Given the description of an element on the screen output the (x, y) to click on. 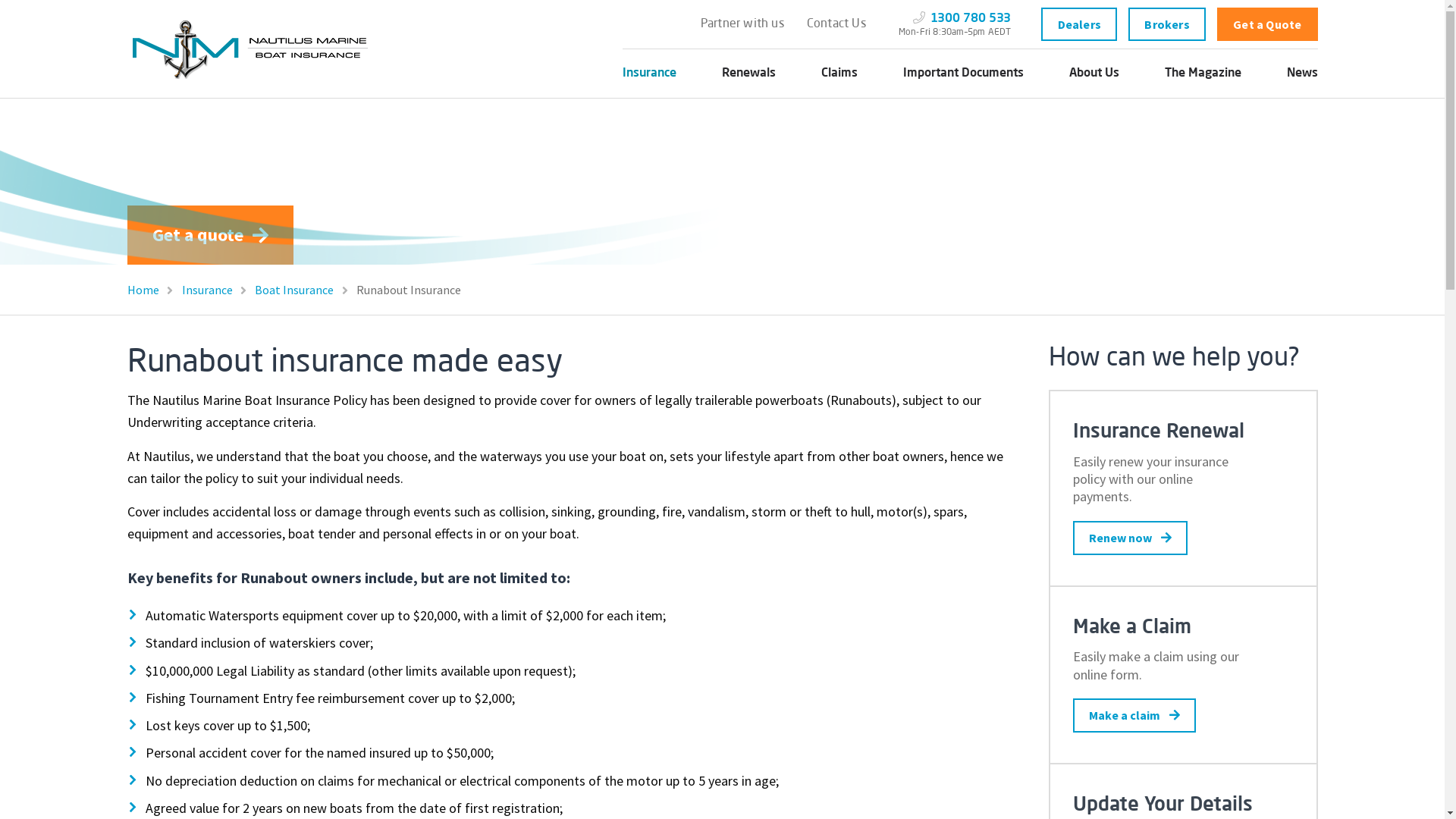
Dealers Element type: text (1079, 24)
Home Element type: text (152, 289)
Make a claim Element type: text (1133, 715)
Get a Quote Element type: text (1267, 24)
Contact Us Element type: text (836, 24)
Nautilus Marine Insurance Element type: hover (252, 48)
Insurance Element type: text (648, 73)
Claims Element type: text (838, 73)
Learn more Element type: text (395, 234)
The Magazine Element type: text (1202, 73)
About Us Element type: text (1094, 73)
Important Documents Element type: text (962, 73)
News Element type: text (1301, 73)
Renewals Element type: text (748, 73)
Boat Insurance Element type: text (303, 289)
Partner with us Element type: text (742, 24)
Brokers Element type: text (1166, 24)
Get a quote Element type: text (210, 234)
Renew now Element type: text (1129, 537)
Insurance Element type: text (217, 289)
